Given the description of an element on the screen output the (x, y) to click on. 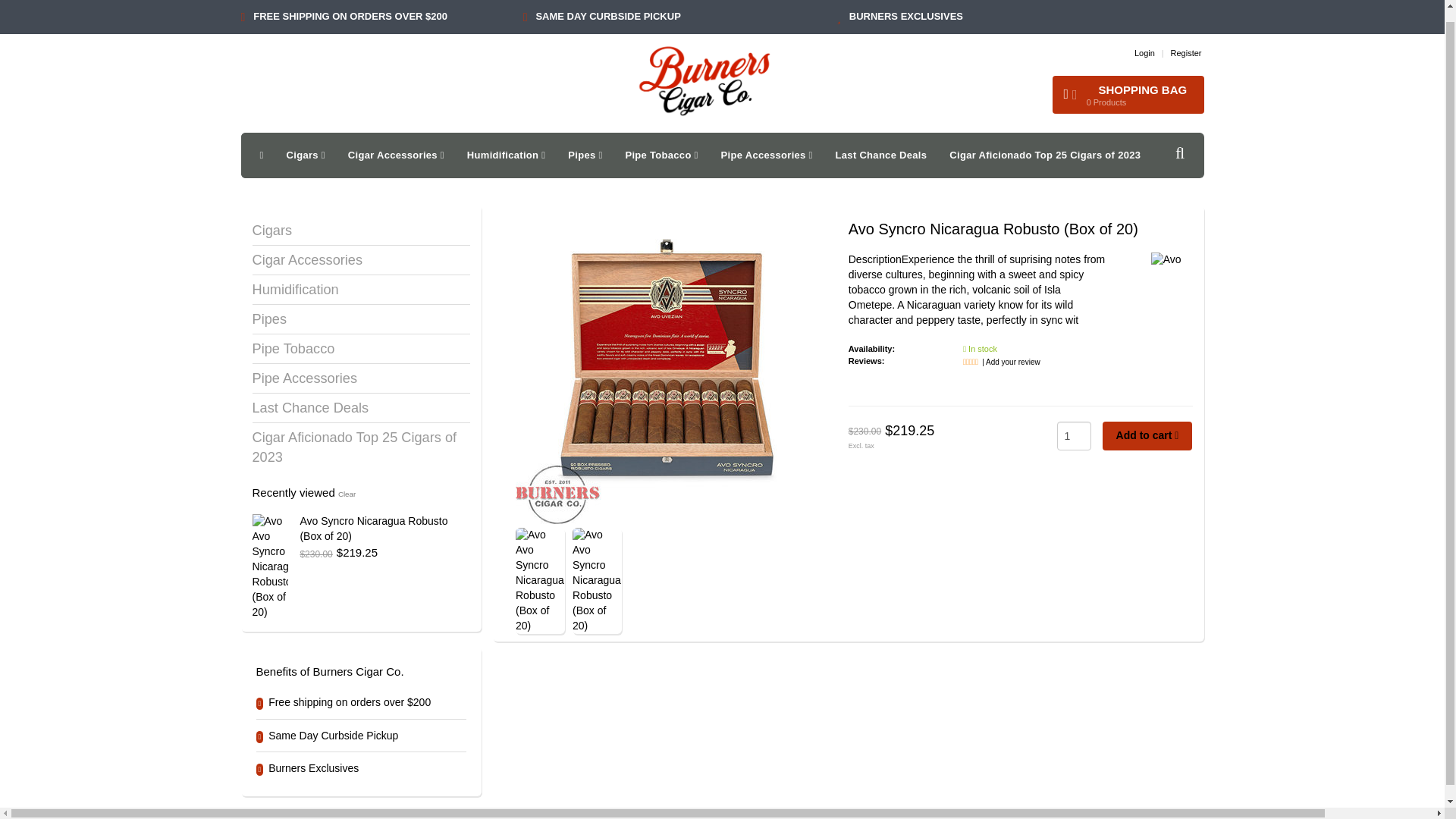
1 (1073, 435)
BURNERS EXCLUSIVES (905, 4)
My cart (1128, 94)
Login (1144, 52)
Cigars (305, 155)
Cigars (1128, 94)
My account (305, 155)
SAME DAY CURBSIDE PICKUP (1144, 52)
Register (607, 4)
